Given the description of an element on the screen output the (x, y) to click on. 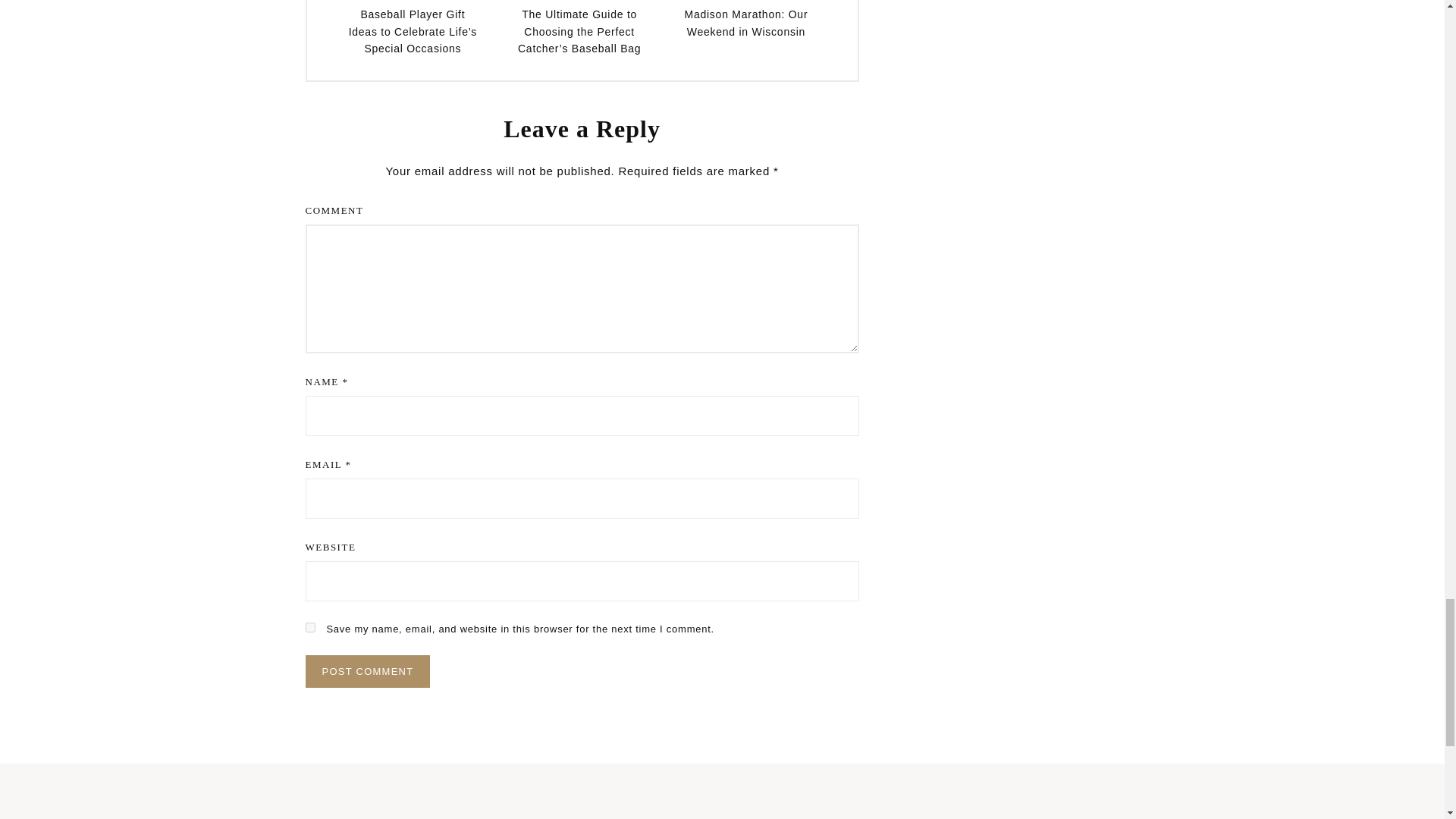
Post Comment (366, 671)
yes (309, 627)
